Given the description of an element on the screen output the (x, y) to click on. 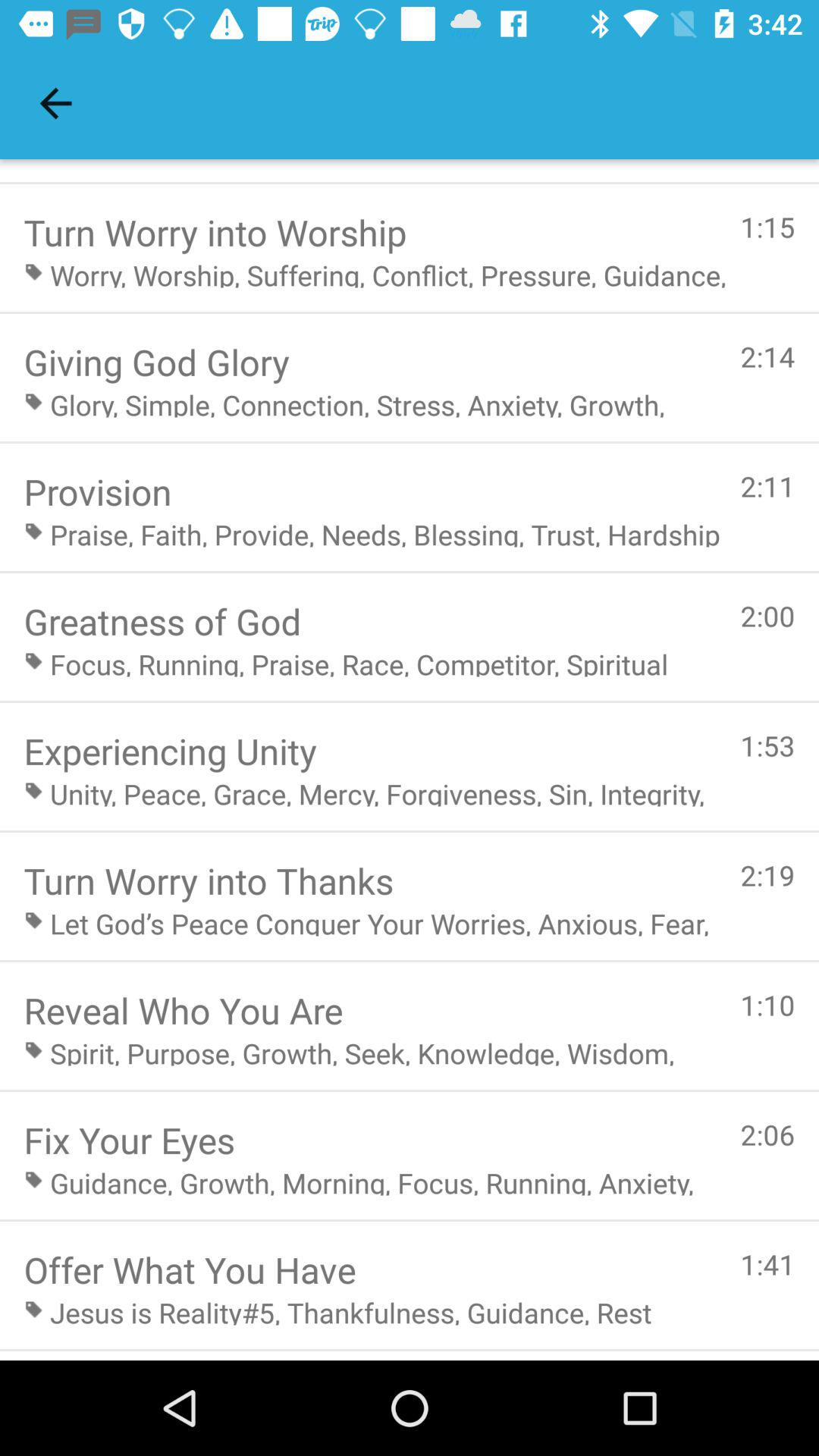
tap icon above the turn worry into item (55, 103)
